Given the description of an element on the screen output the (x, y) to click on. 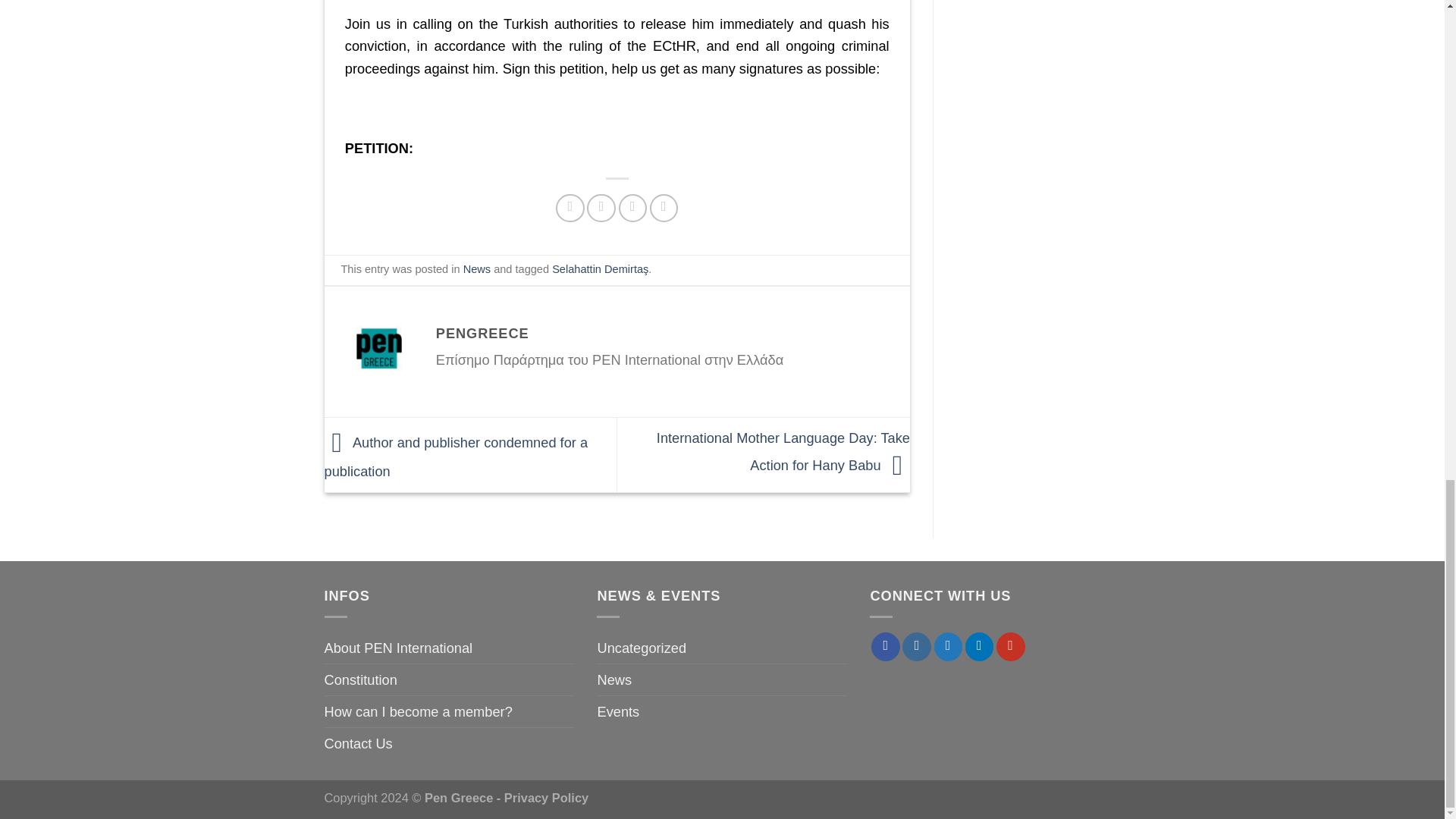
Follow on LinkedIn (979, 646)
Author and publisher condemned for a publication (456, 456)
International Mother Language Day: Take Action for Hany Babu (783, 450)
Share on Twitter (600, 208)
Follow on Instagram (916, 646)
Share on LinkedIn (663, 208)
Follow on Twitter (948, 646)
News (476, 268)
Share on Facebook (570, 208)
Follow on YouTube (1010, 646)
Follow on Facebook (884, 646)
Email to a Friend (632, 208)
